Given the description of an element on the screen output the (x, y) to click on. 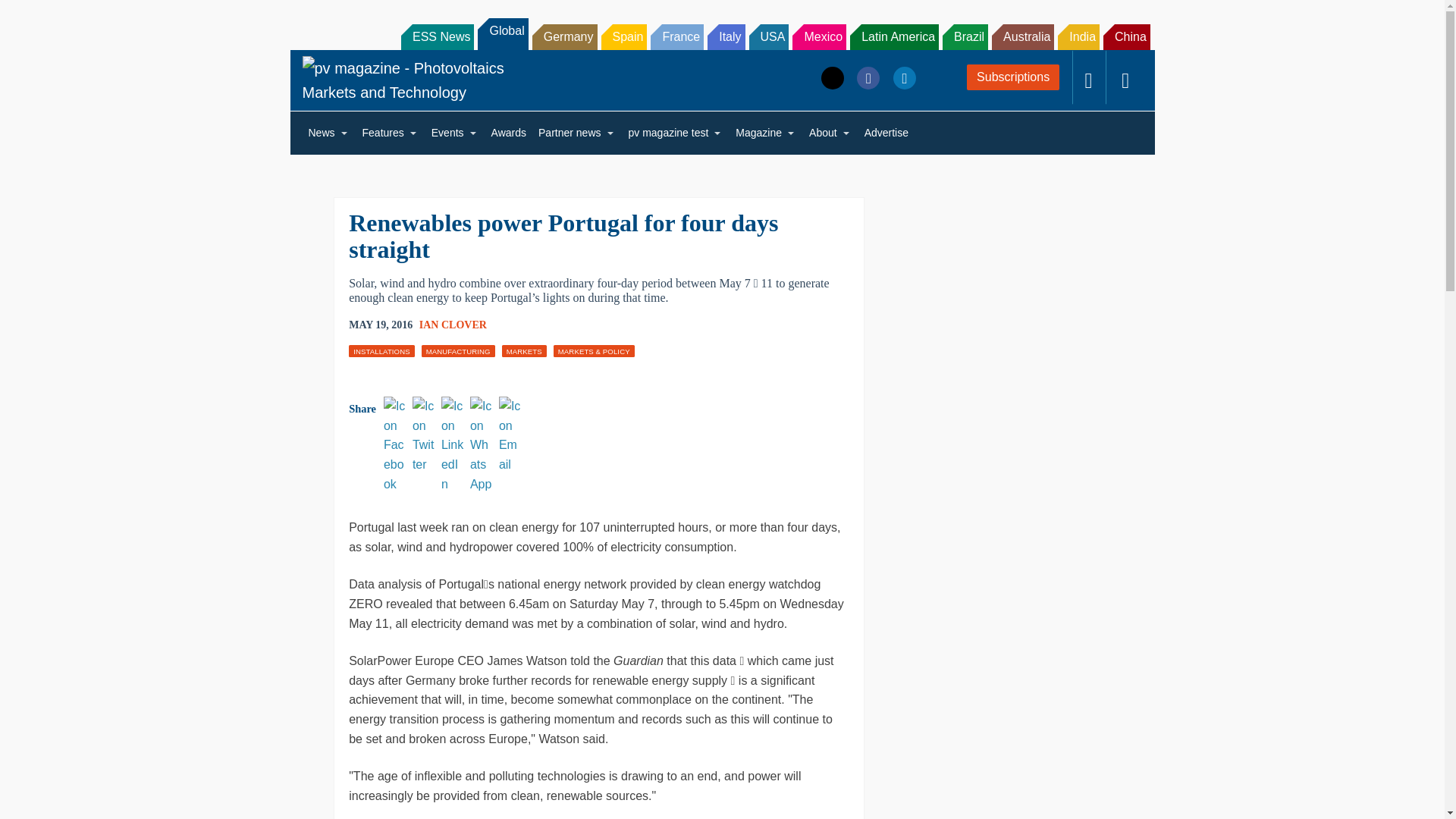
ESS News (437, 36)
pv magazine - Photovoltaics Markets and Technology (415, 79)
pv magazine - Photovoltaics Markets and Technology (415, 80)
Global (502, 33)
France (676, 36)
Italy (725, 36)
Latin America (894, 36)
Mexico (818, 36)
Posts by Ian Clover (452, 324)
Subscriptions (1012, 77)
